Given the description of an element on the screen output the (x, y) to click on. 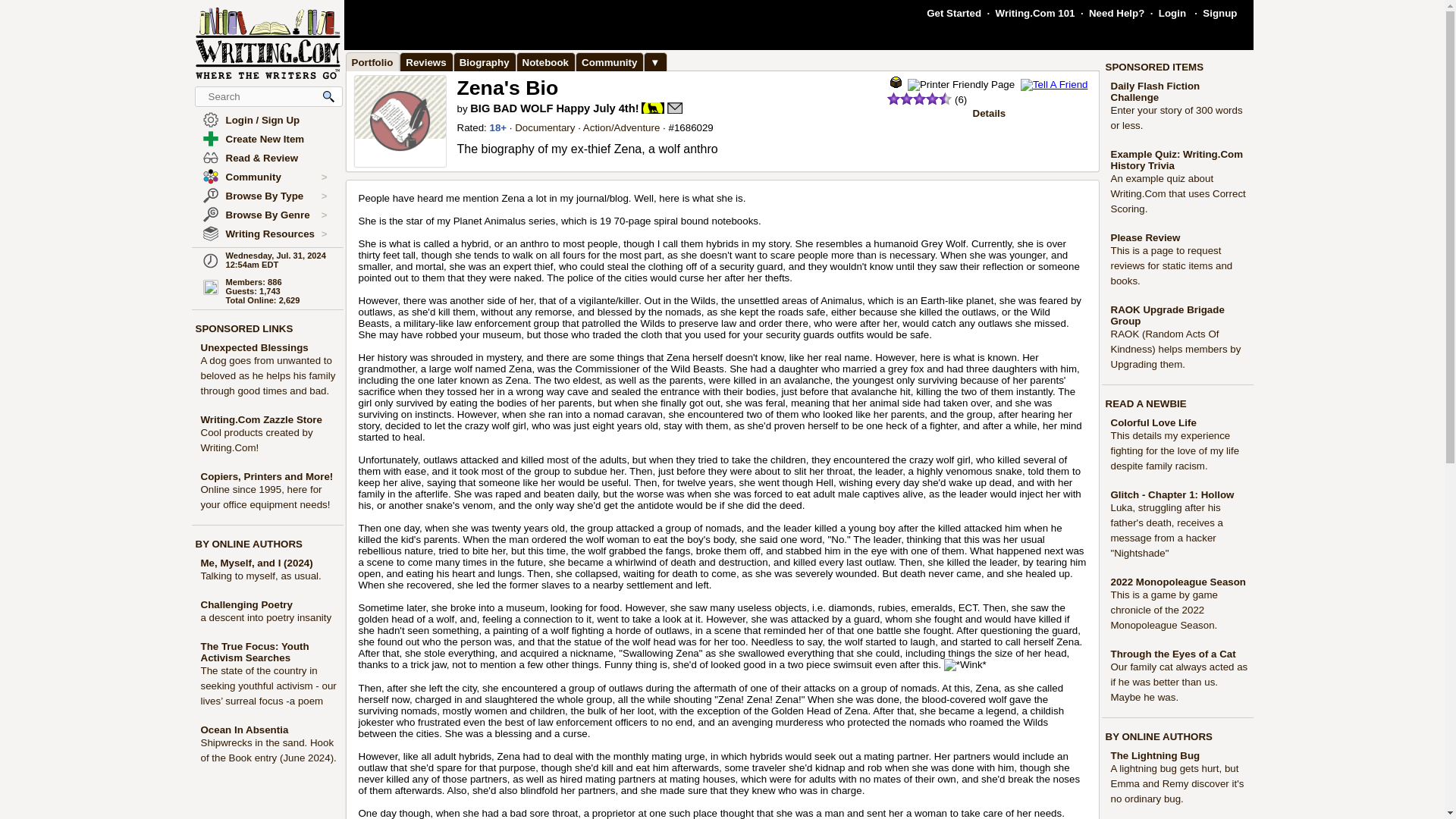
Signup (1219, 12)
Create New Item (264, 138)
Login (1172, 12)
Magnify (328, 96)
Writing.Com 101 (1035, 12)
Get Started (953, 12)
Need Help? (1116, 12)
